Given the description of an element on the screen output the (x, y) to click on. 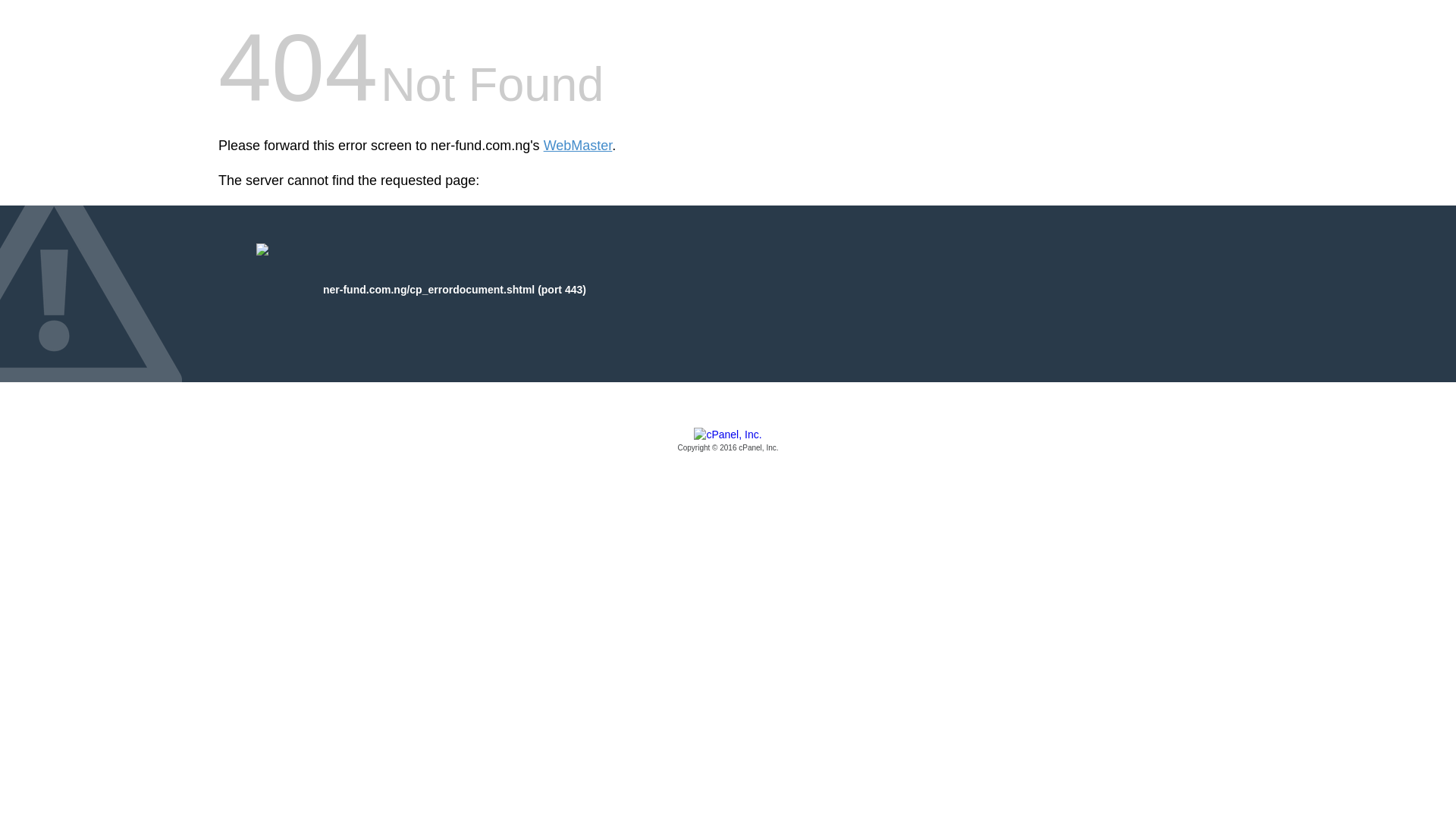
cPanel, Inc. (727, 440)
WebMaster (577, 145)
